Given the description of an element on the screen output the (x, y) to click on. 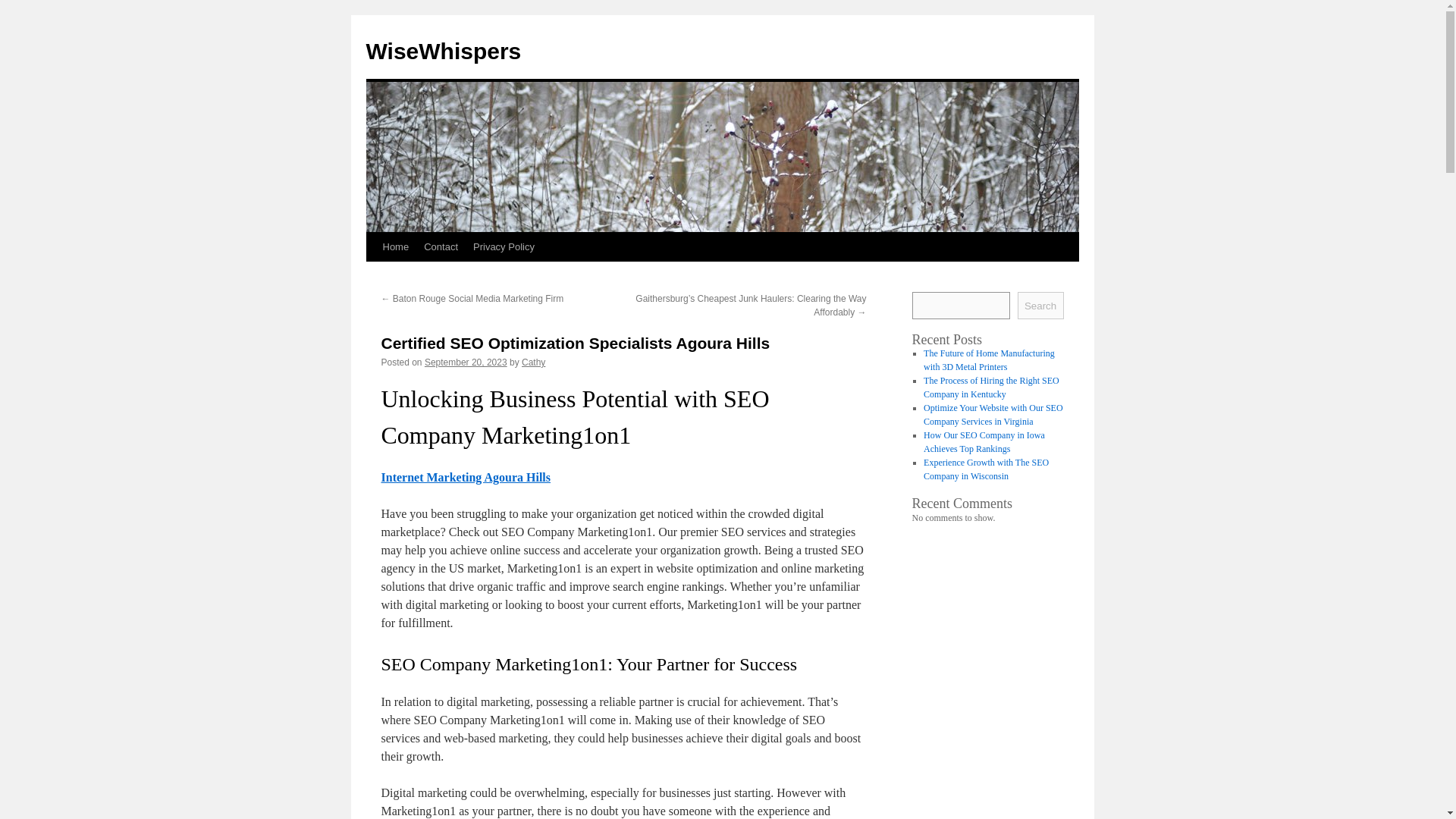
Privacy Policy (503, 246)
View all posts by Cathy (532, 362)
The Future of Home Manufacturing with 3D Metal Printers (988, 360)
Internet Marketing Agoura Hills (465, 477)
WiseWhispers (443, 50)
September 20, 2023 (465, 362)
The Process of Hiring the Right SEO Company in Kentucky (991, 387)
Home (395, 246)
Experience Growth with The SEO Company in Wisconsin (985, 469)
Search (1040, 305)
Cathy (532, 362)
Contact (440, 246)
How Our SEO Company in Iowa Achieves Top Rankings (984, 441)
5:21 pm (465, 362)
